Given the description of an element on the screen output the (x, y) to click on. 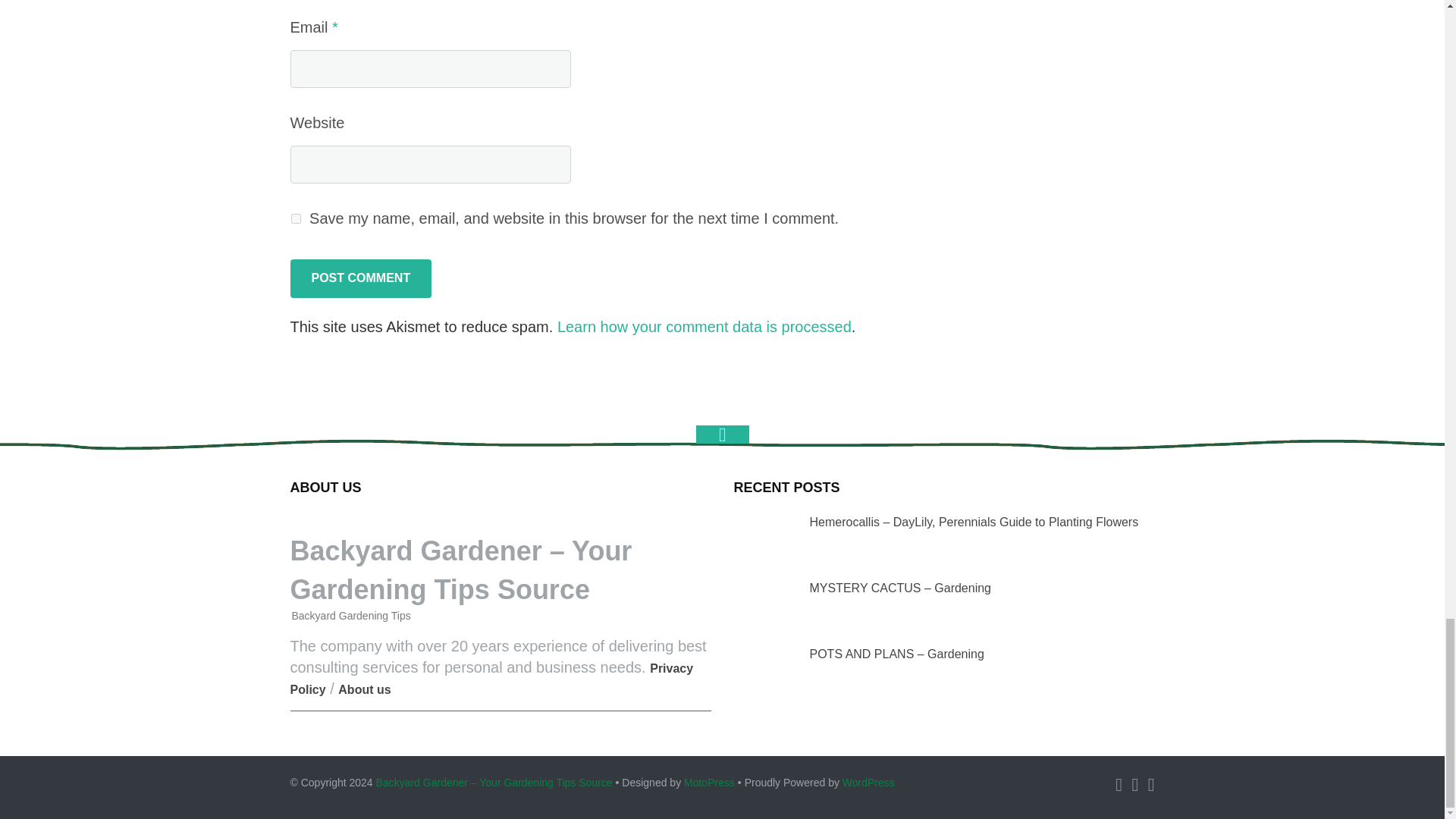
Semantic Personal Publishing Platform (869, 782)
yes (296, 218)
Premium WordPress Plugins and Themes (709, 782)
Post Comment (359, 278)
